Given the description of an element on the screen output the (x, y) to click on. 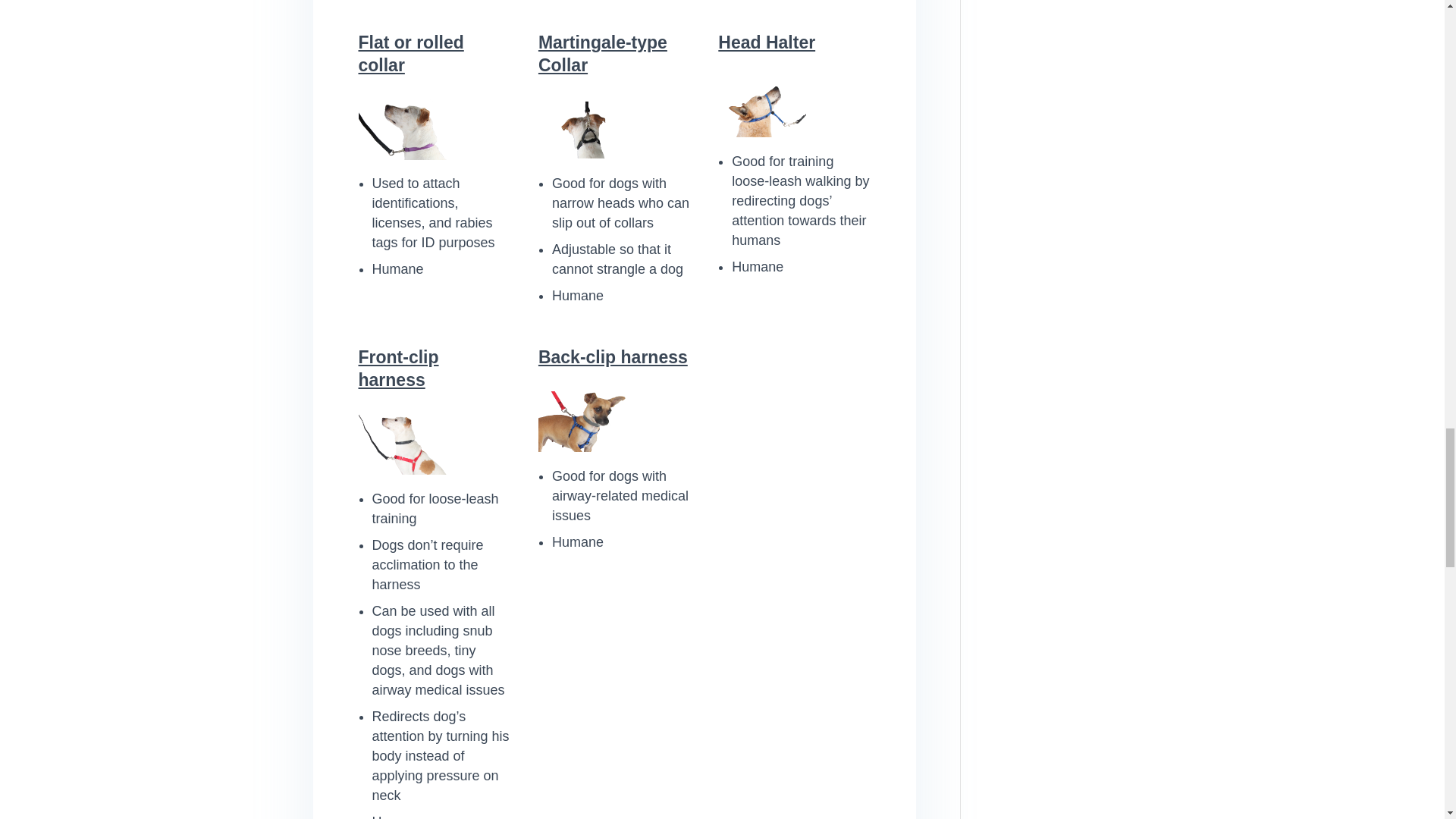
prongs-flat (401, 129)
prongs-martingale-collar (582, 129)
prongs-back-clip-harness (582, 421)
